Given the description of an element on the screen output the (x, y) to click on. 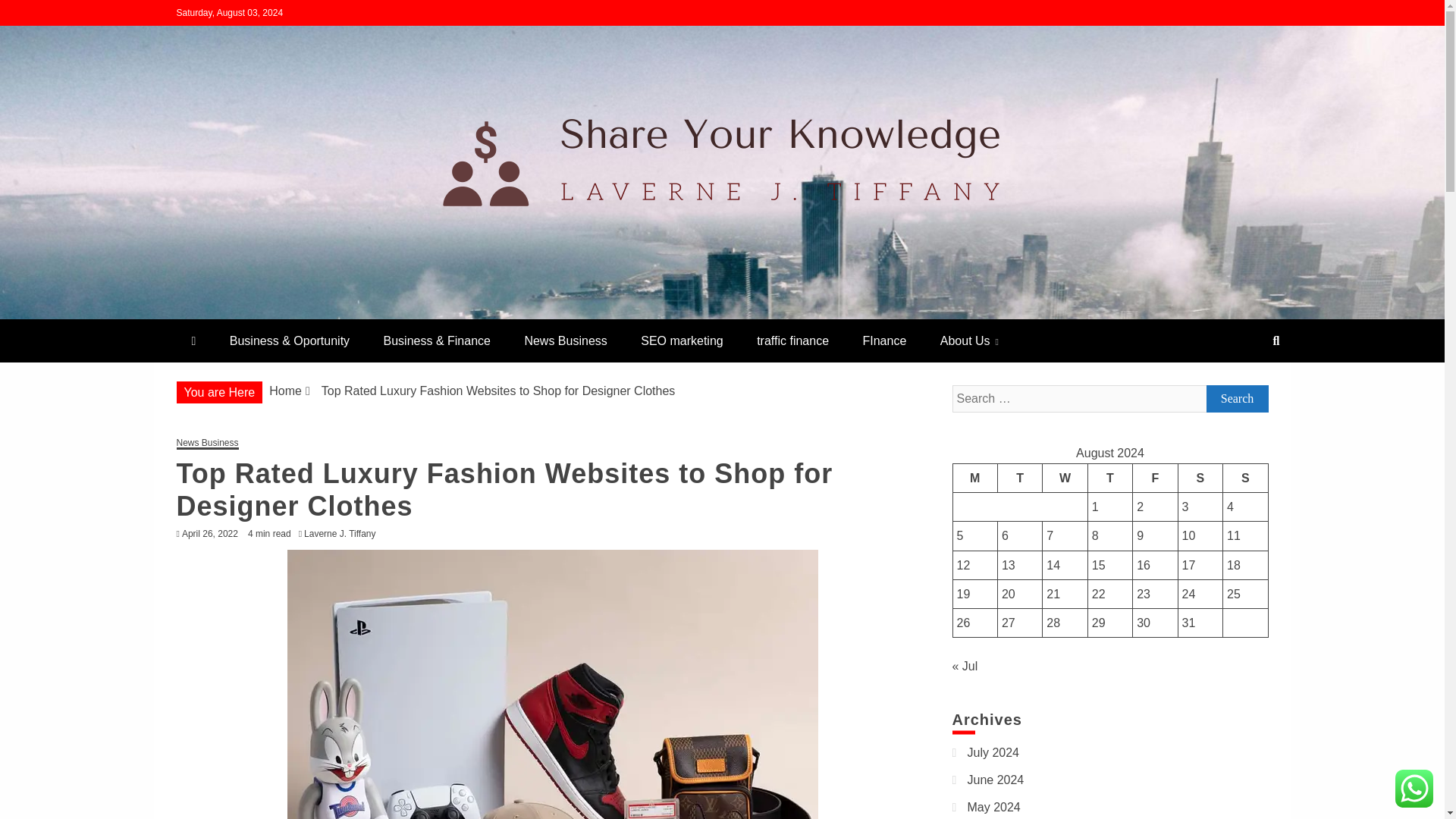
Search (1236, 398)
SEO marketing (682, 340)
Thursday (1109, 477)
Home (285, 390)
News Business (564, 340)
Search (31, 13)
Tuesday (1019, 477)
April 26, 2022 (210, 533)
FInance (884, 340)
News Business (207, 443)
orderrimagemarketdeli (331, 312)
Monday (974, 477)
About Us (968, 340)
Saturday (1200, 477)
Wednesday (1064, 477)
